Given the description of an element on the screen output the (x, y) to click on. 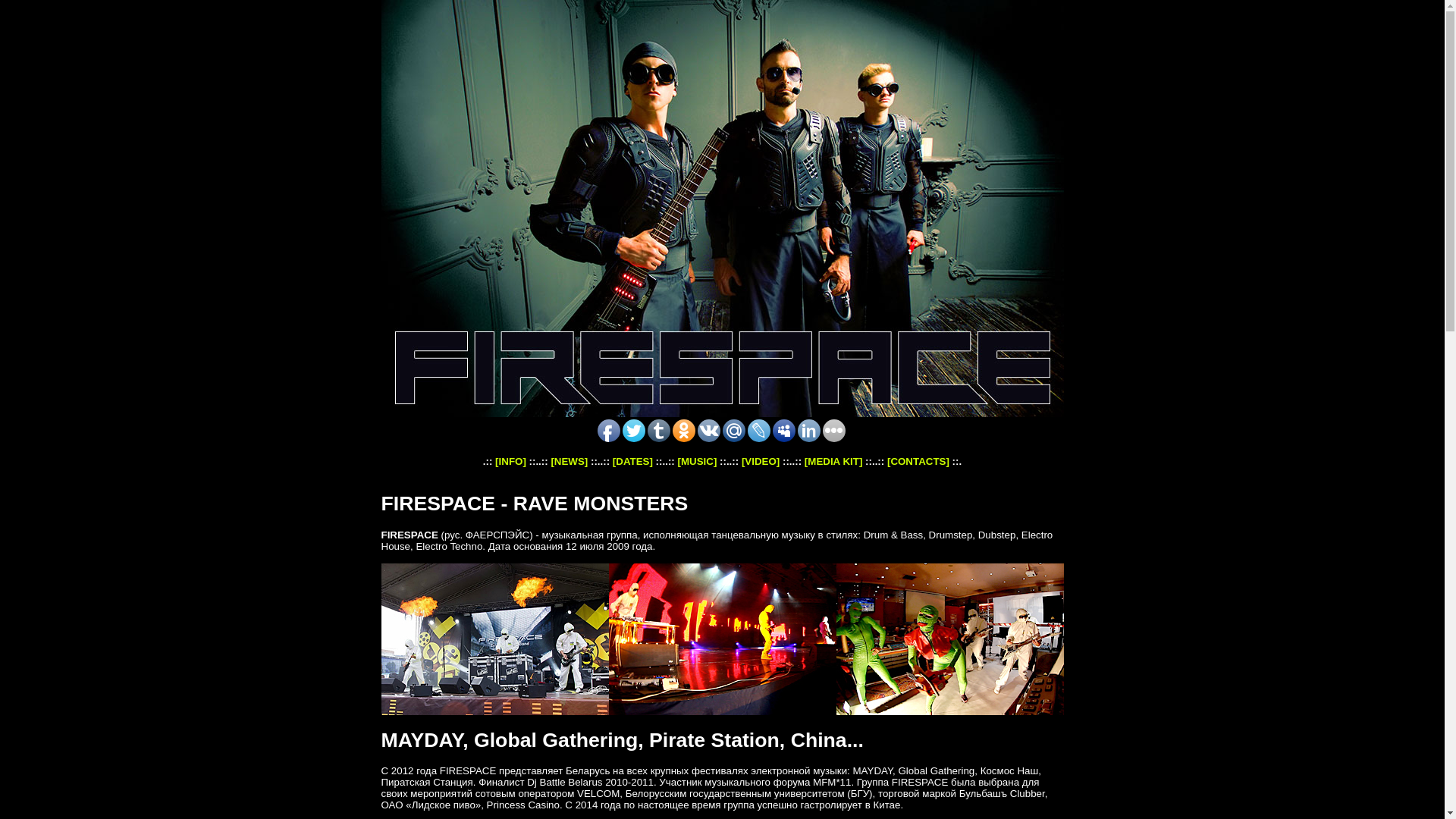
[INFO] Element type: text (510, 461)
[NEWS] Element type: text (568, 461)
[MUSIC] Element type: text (697, 461)
[VIDEO] Element type: text (760, 461)
[CONTACTS] Element type: text (918, 461)
[MEDIA KIT] Element type: text (833, 461)
[DATES] Element type: text (632, 461)
